Given the description of an element on the screen output the (x, y) to click on. 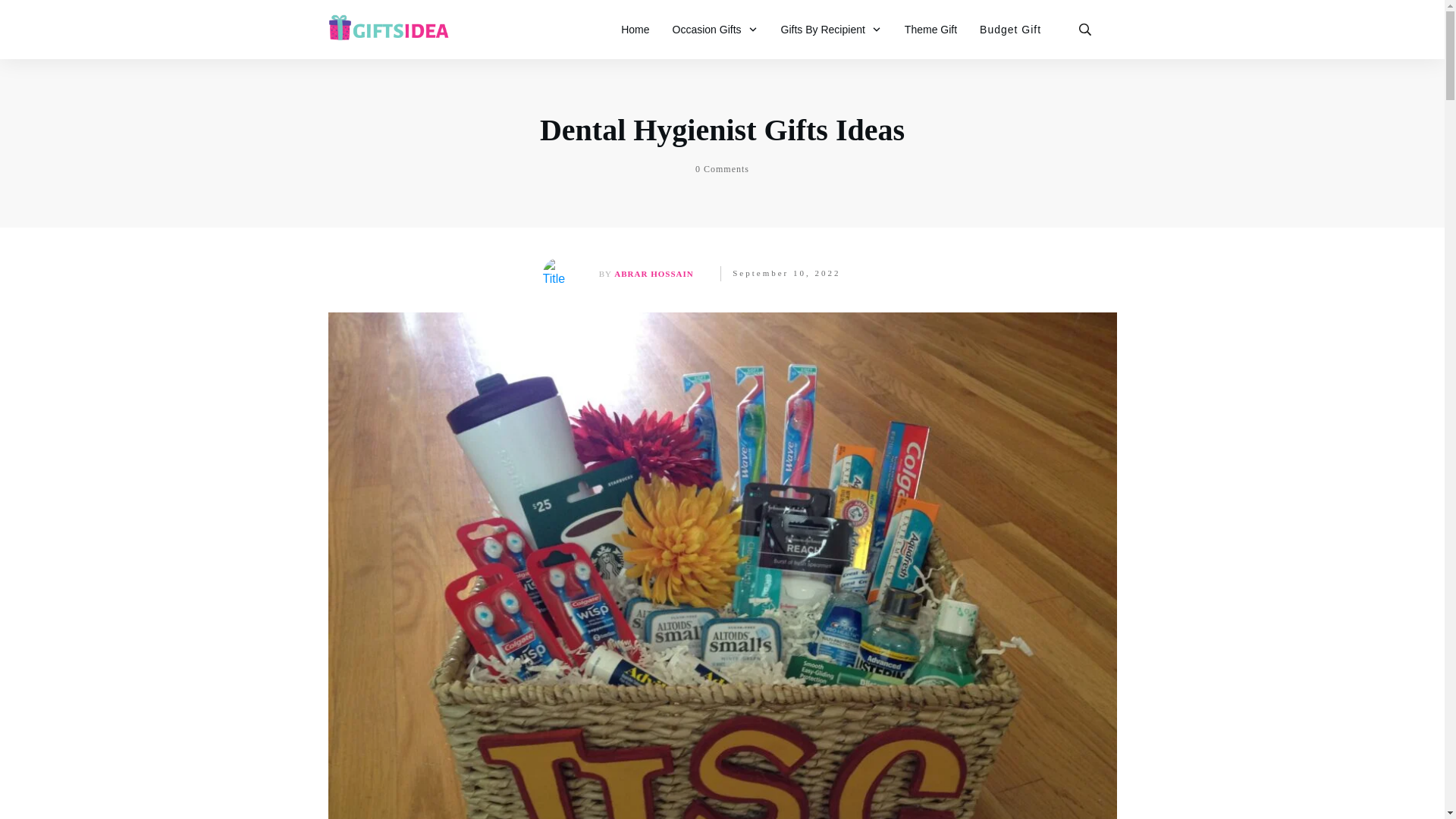
Occasion Gifts (715, 29)
Home (635, 29)
ABRAR HOSSAIN (653, 272)
Budget Gift (1010, 29)
Gifts By Recipient (831, 29)
Theme Gift (930, 29)
Title Banner without Sidebar (559, 273)
